Given the description of an element on the screen output the (x, y) to click on. 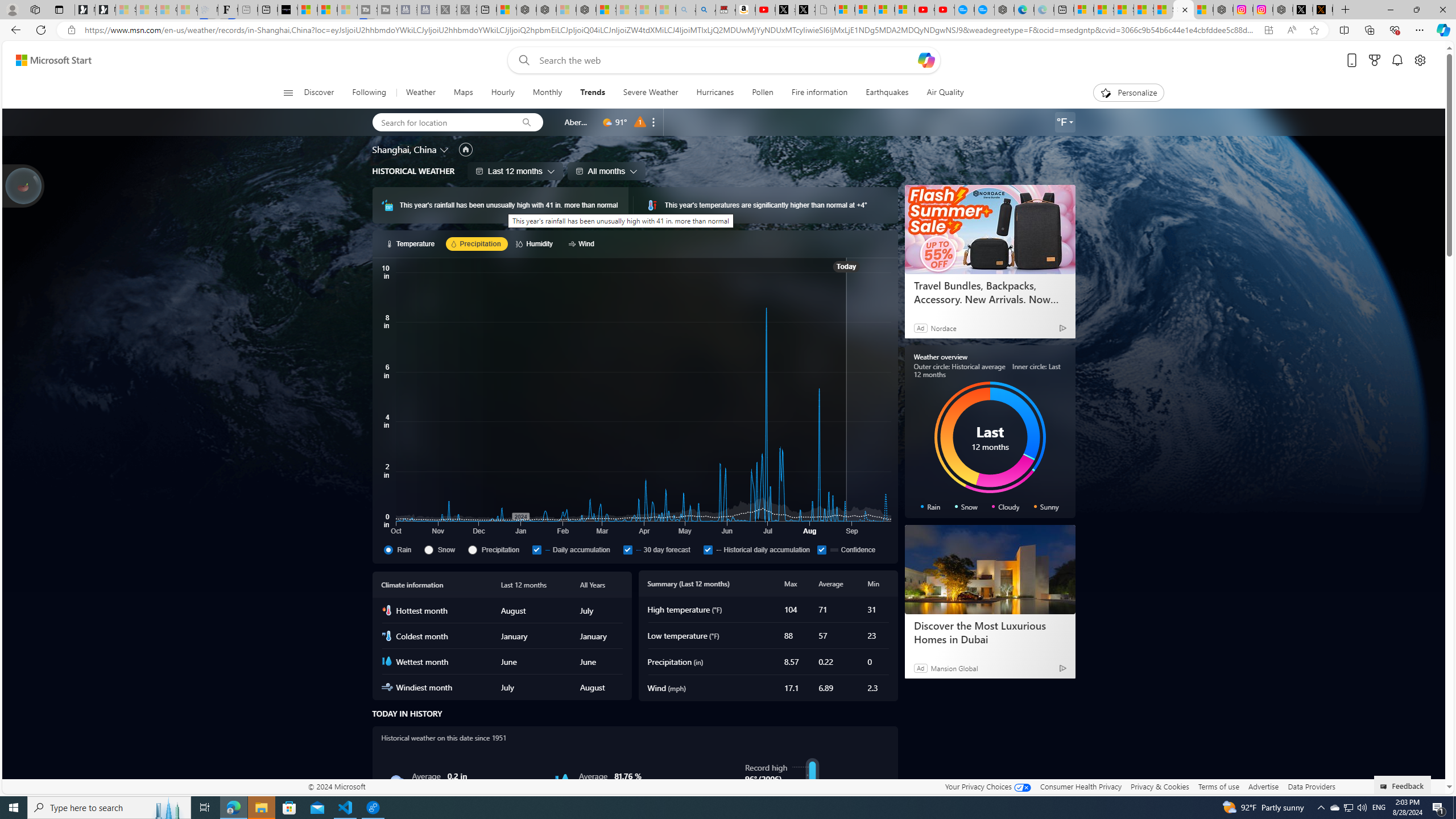
Shanghai, China Weather trends | Microsoft Weather (1183, 9)
Trends (592, 92)
30 day forecast (627, 549)
Earthquakes (886, 92)
Shanghai, China (403, 149)
